Given the description of an element on the screen output the (x, y) to click on. 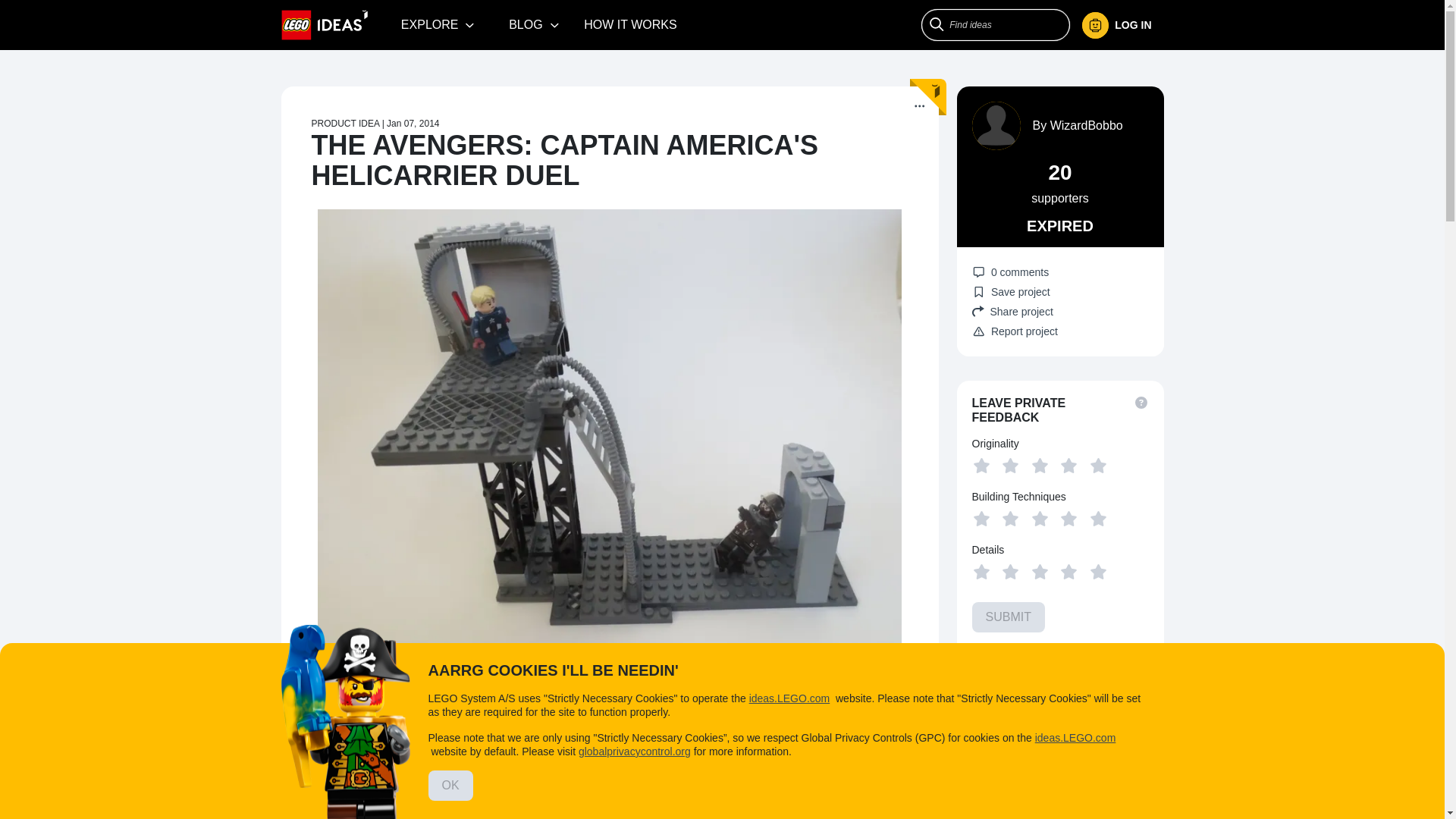
EXPLORE (437, 24)
Save project (1010, 291)
HOW IT WORKS (630, 24)
Share project (1060, 311)
2014-01-07T22:59:31Z (413, 122)
STATISTICS (788, 673)
BLOG (534, 24)
COMMENTS 0 (515, 673)
UPDATES 0 (422, 673)
DESCRIPTION (331, 674)
OFFICIAL LEGO COMMENTS 1 (657, 673)
WizardBobbo (1085, 124)
How It Works (630, 24)
